Given the description of an element on the screen output the (x, y) to click on. 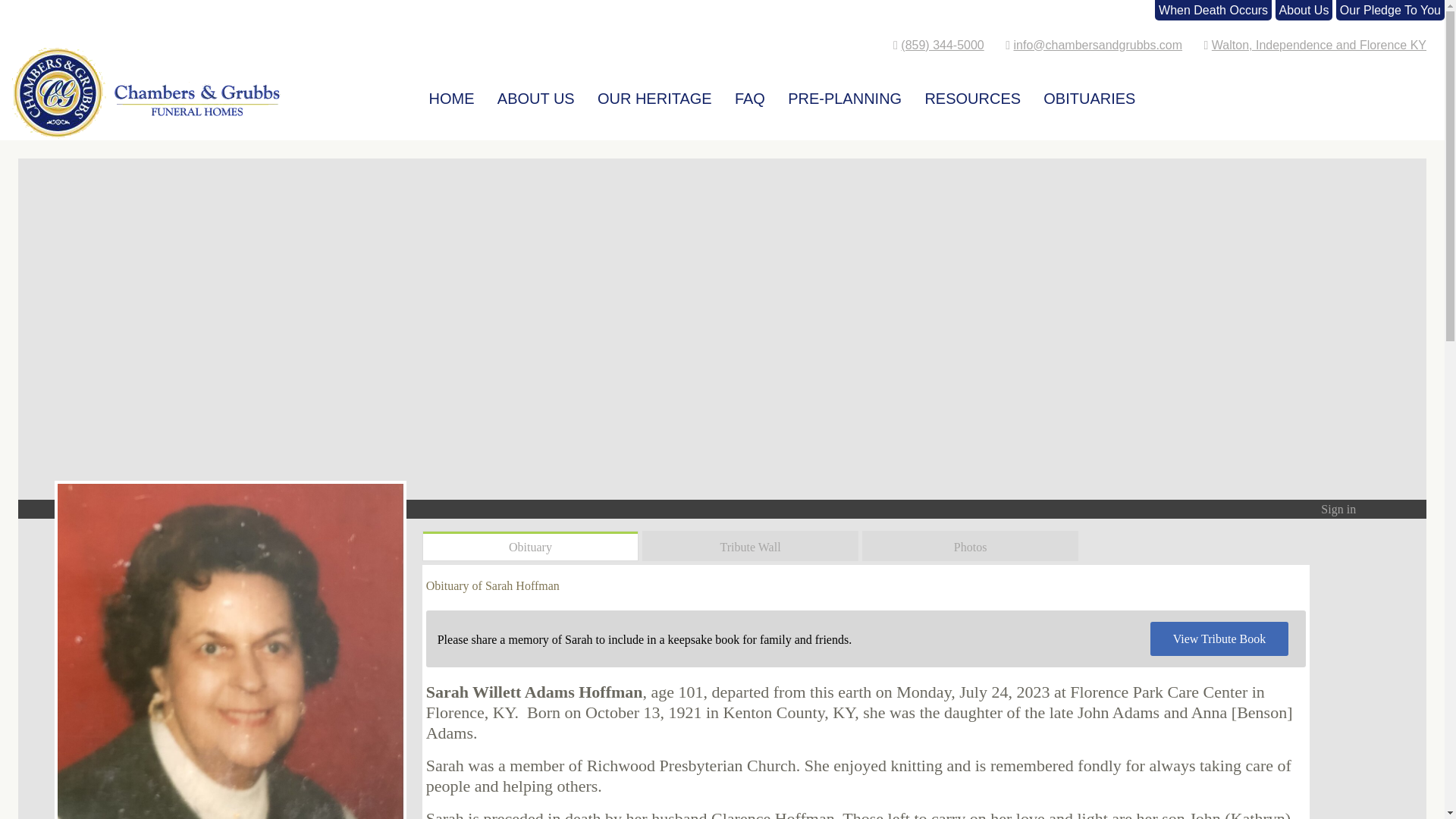
Our Pledge To You (1390, 10)
When Death Occurs (1213, 10)
OUR HERITAGE (654, 93)
About Us (1304, 10)
Walton, Independence and Florence KY (1318, 44)
FAQ (749, 93)
HOME (451, 93)
ABOUT US (535, 93)
Sign in (1337, 508)
RESOURCES (972, 93)
